Given the description of an element on the screen output the (x, y) to click on. 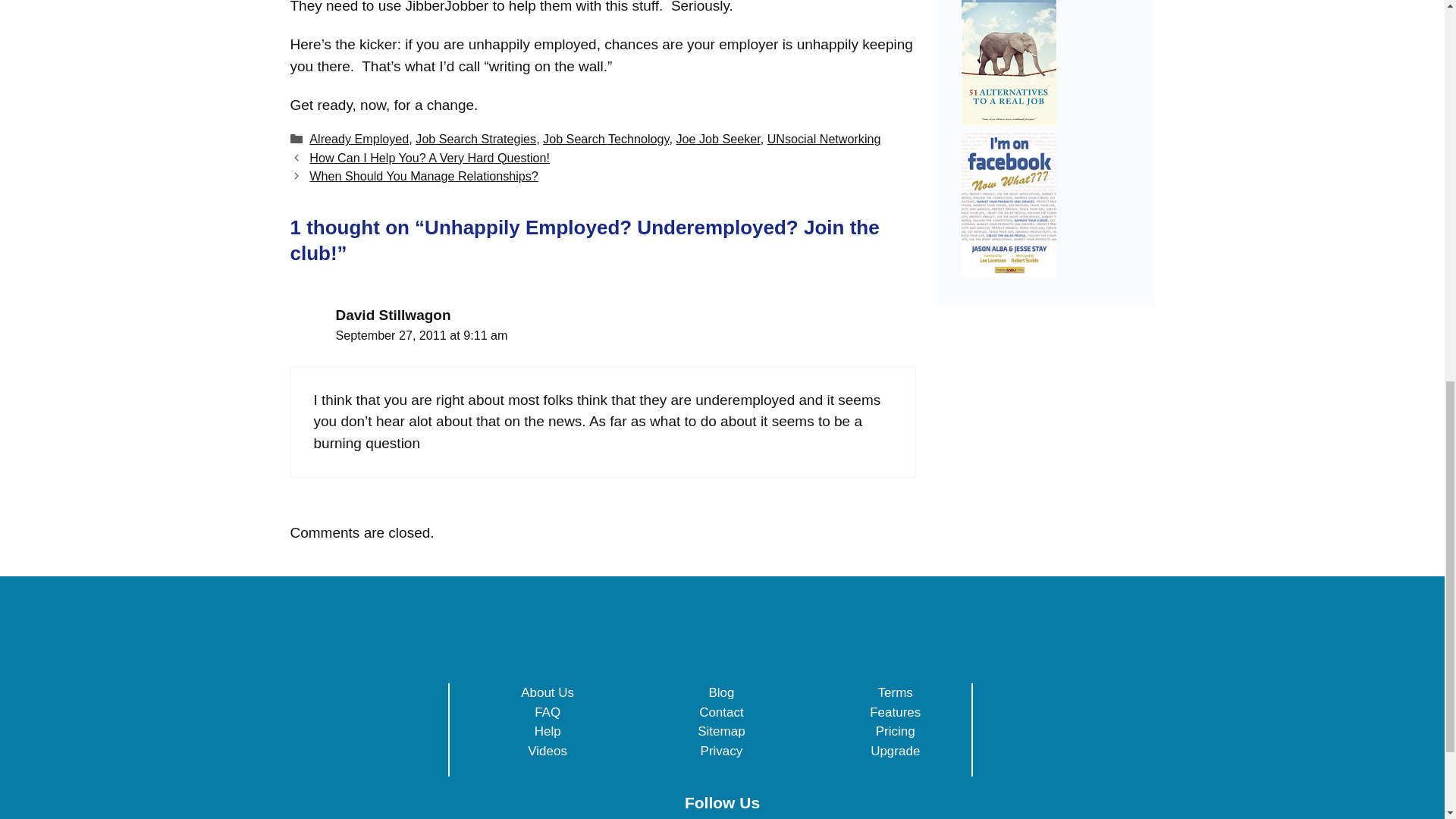
Help (547, 730)
FAQ (547, 712)
When Should You Manage Relationships? (423, 175)
How Can I Help You? A Very Hard Question! (429, 157)
Job Search Technology (605, 138)
Videos (547, 750)
Blog (720, 692)
David Stillwagon (391, 314)
Terms (894, 692)
Joe Job Seeker (717, 138)
UNsocial Networking (823, 138)
Contact (721, 712)
Job Search Strategies (474, 138)
Already Employed (358, 138)
Next (423, 175)
